Given the description of an element on the screen output the (x, y) to click on. 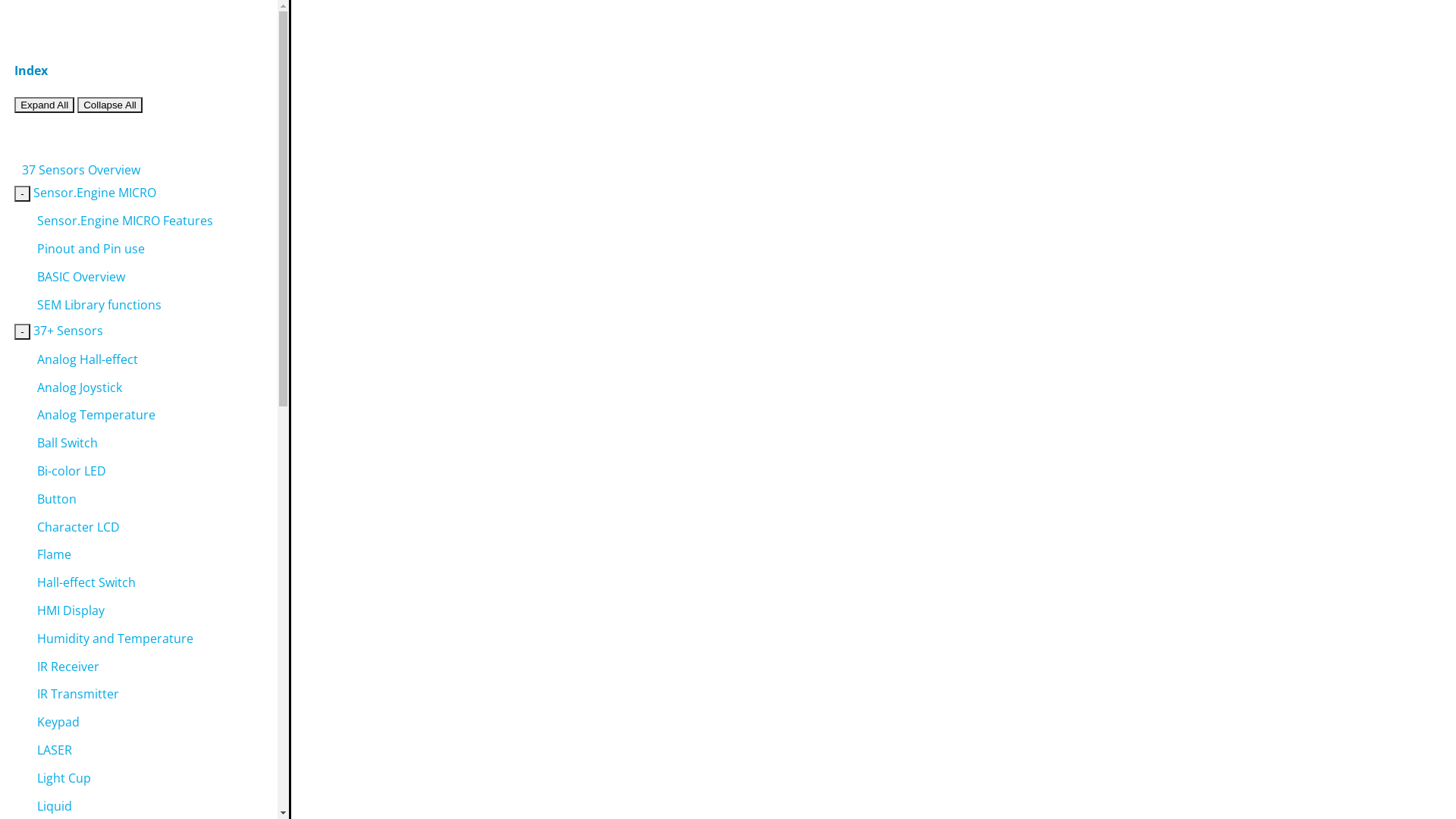
Sensor.Engine MICRO Features Element type: text (125, 220)
Humidity and Temperature Element type: text (115, 638)
HMI Display Element type: text (70, 610)
Pinout and Pin use Element type: text (90, 248)
Character LCD Element type: text (78, 526)
LASER Element type: text (54, 749)
BASIC Overview Element type: text (81, 276)
Liquid Element type: text (54, 805)
37+ Sensors Element type: text (68, 330)
Analog Temperature Element type: text (96, 414)
Expand All Element type: text (44, 104)
IR Transmitter Element type: text (78, 693)
Button Element type: text (56, 498)
Flame Element type: text (54, 554)
Sensor.Engine MICRO Element type: text (94, 192)
SEM Library functions Element type: text (99, 304)
- Element type: text (21, 331)
Hall-effect Switch Element type: text (86, 582)
Light Cup Element type: text (64, 777)
Keypad Element type: text (58, 721)
Collapse All Element type: text (109, 104)
Analog Joystick Element type: text (79, 387)
37 Sensors Overview Element type: text (80, 169)
Bi-color LED Element type: text (71, 470)
Ball Switch Element type: text (67, 442)
IR Receiver Element type: text (68, 666)
- Element type: text (21, 193)
Analog Hall-effect Element type: text (87, 359)
